Given the description of an element on the screen output the (x, y) to click on. 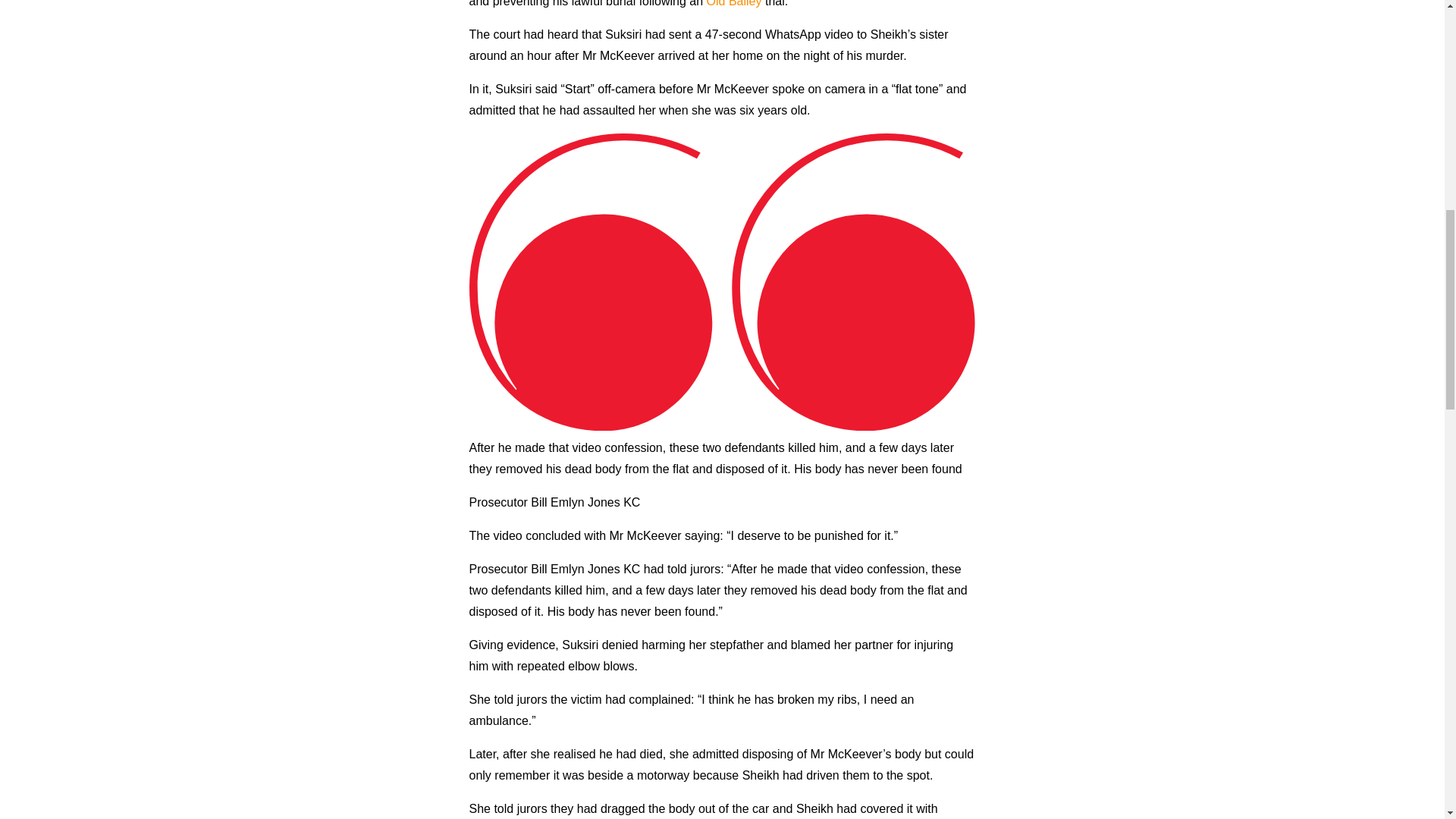
Old Bailey (733, 3)
